Given the description of an element on the screen output the (x, y) to click on. 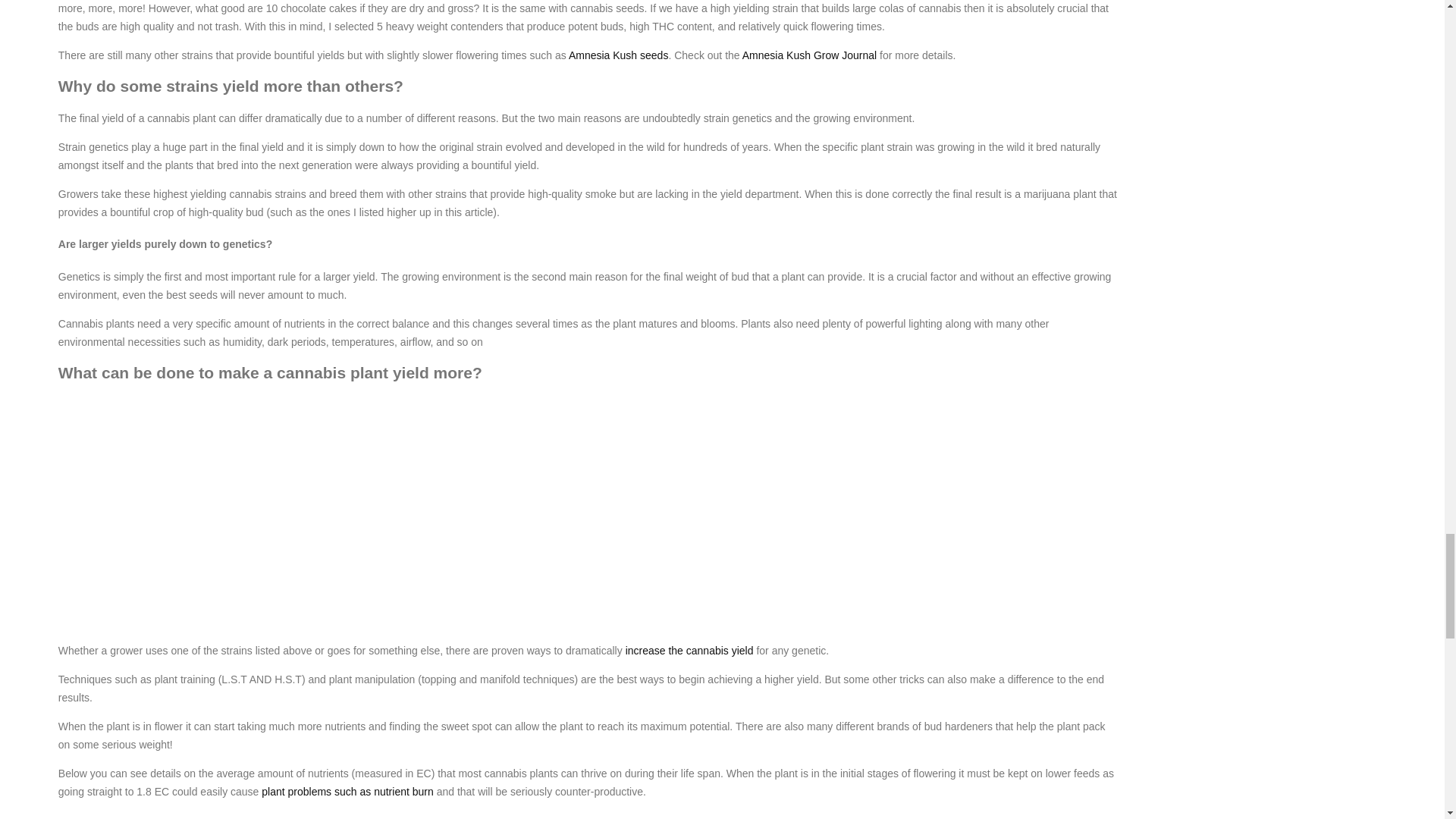
The Top 5 Highest Yielding Cannabis Strains (344, 815)
